Given the description of an element on the screen output the (x, y) to click on. 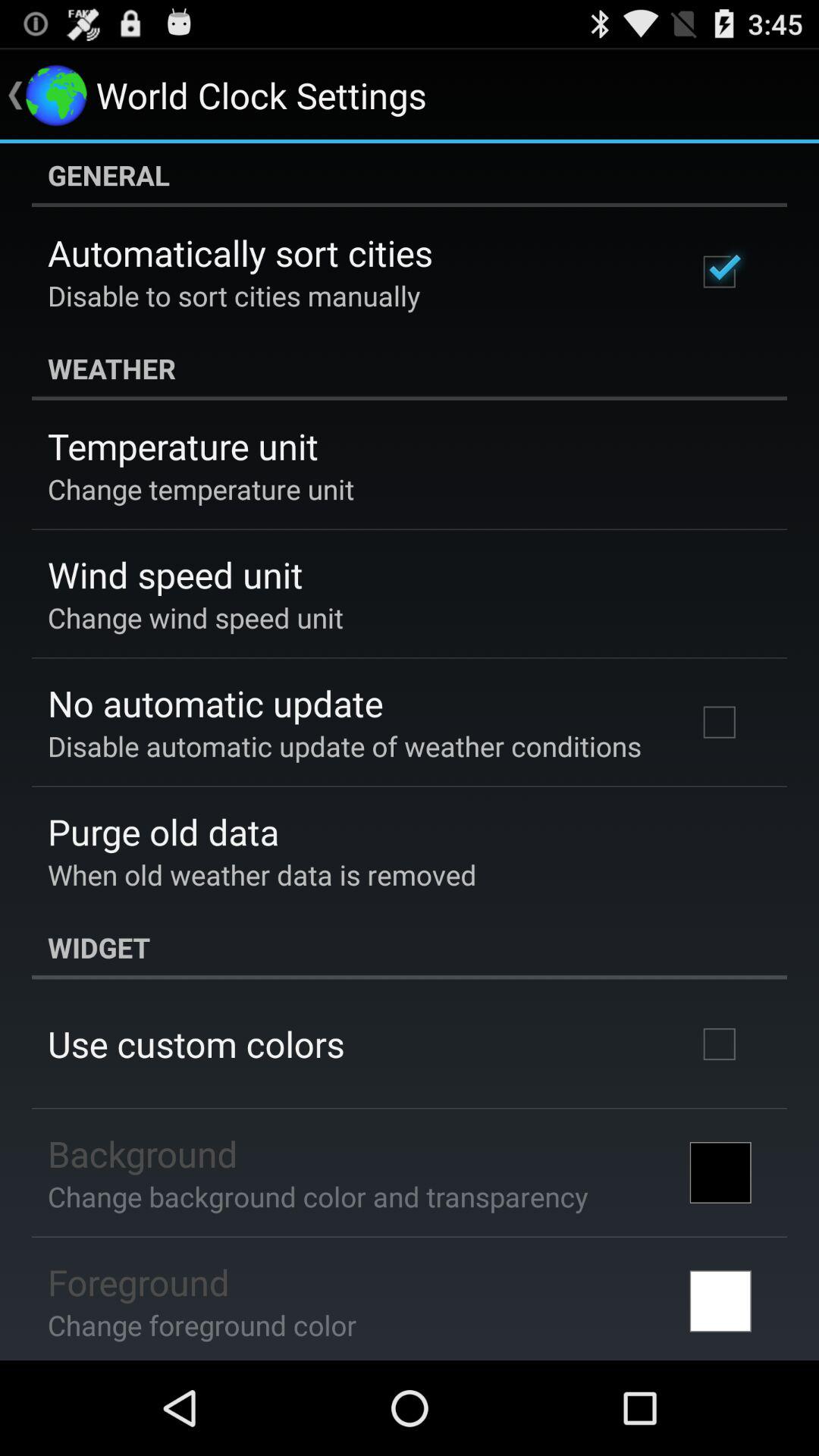
select app below the when old weather item (409, 947)
